Given the description of an element on the screen output the (x, y) to click on. 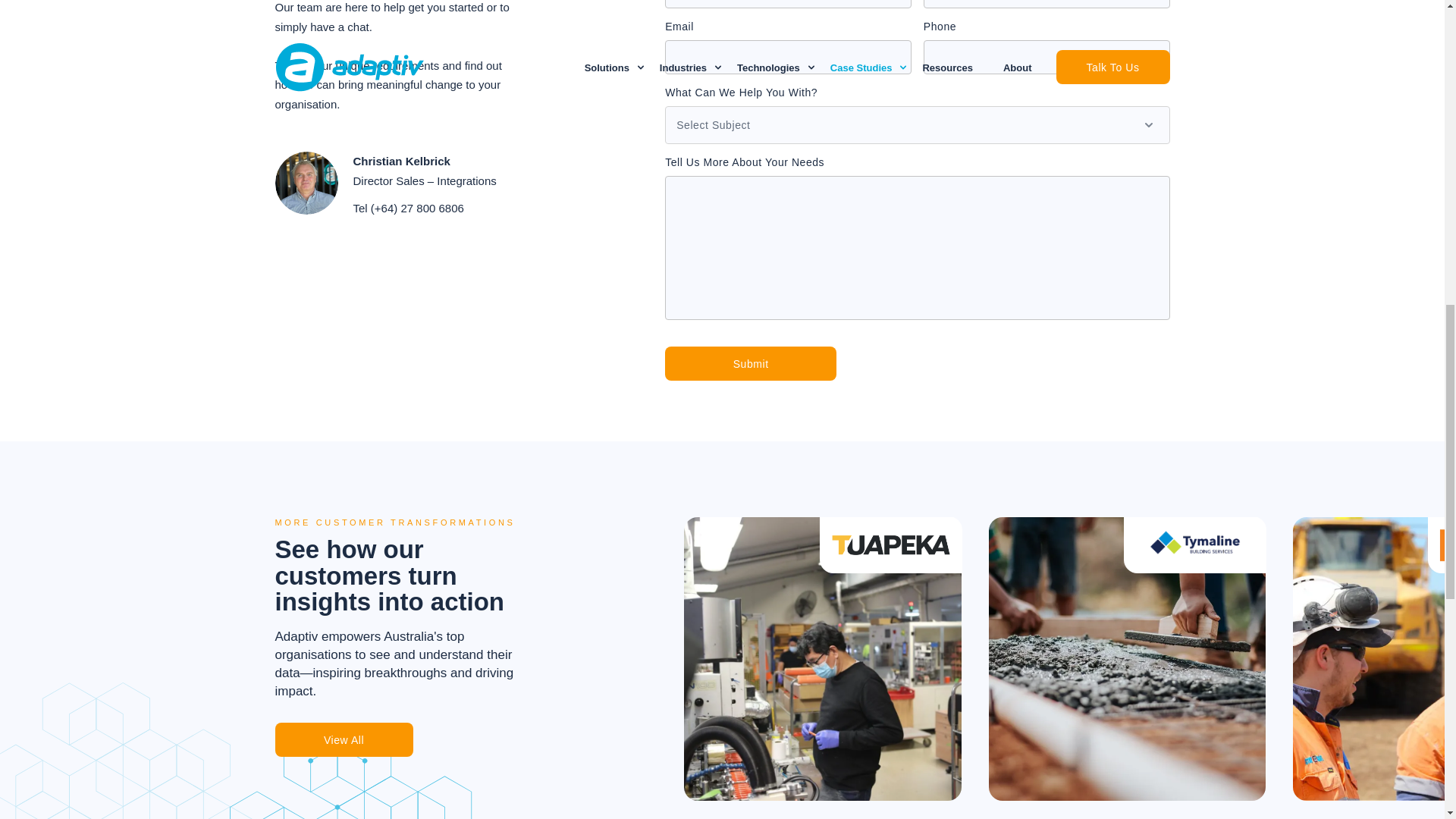
Submit (750, 363)
